Given the description of an element on the screen output the (x, y) to click on. 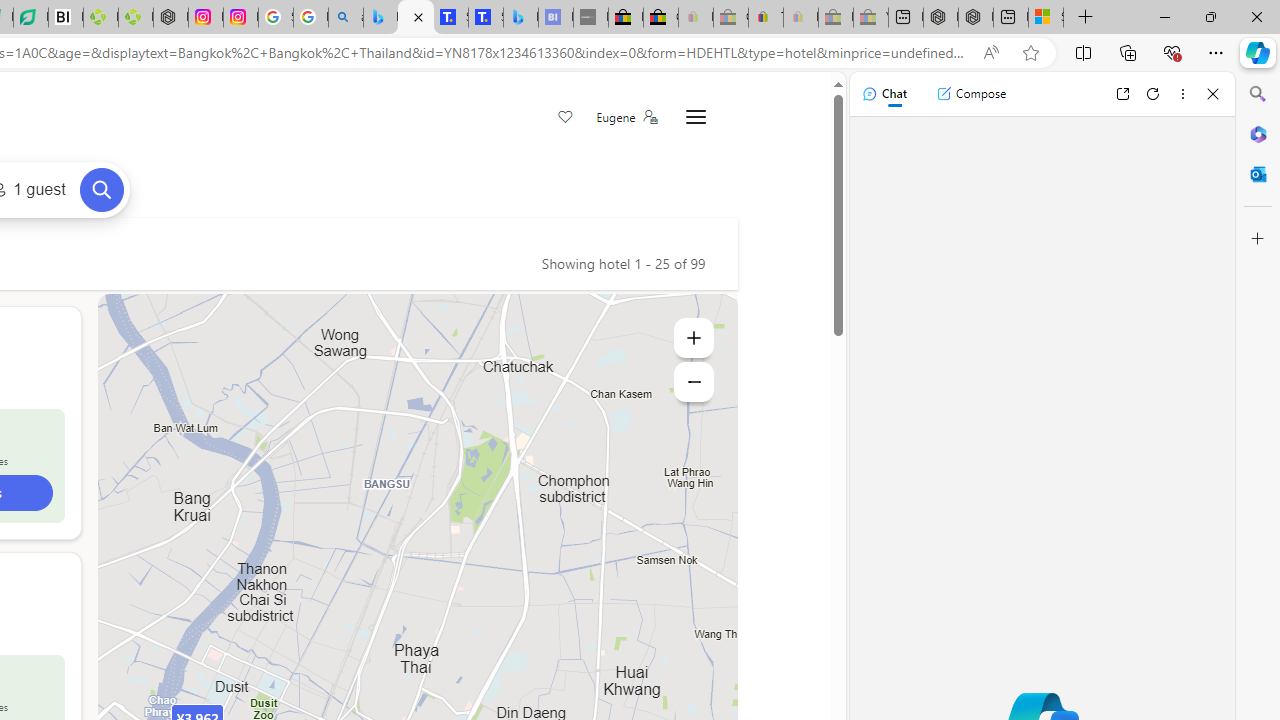
Eugene (626, 117)
Press Room - eBay Inc. - Sleeping (835, 17)
Zoom in (693, 337)
Descarga Driver Updater (136, 17)
Nordace - Nordace Edin Collection (170, 17)
